Given the description of an element on the screen output the (x, y) to click on. 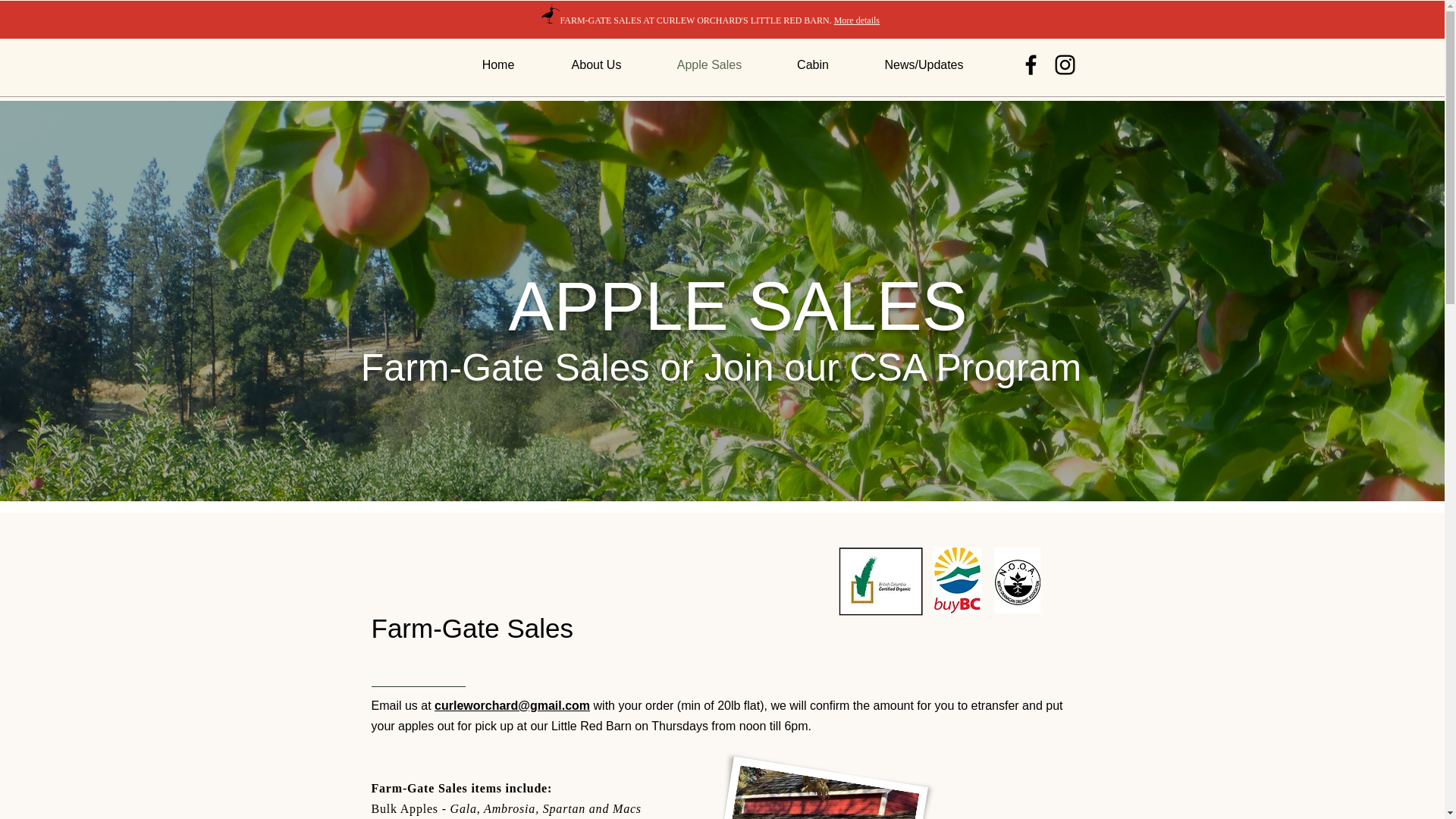
About Us (596, 65)
Cabin (812, 65)
Home (497, 65)
More details (856, 17)
Apple Sales (708, 65)
